Given the description of an element on the screen output the (x, y) to click on. 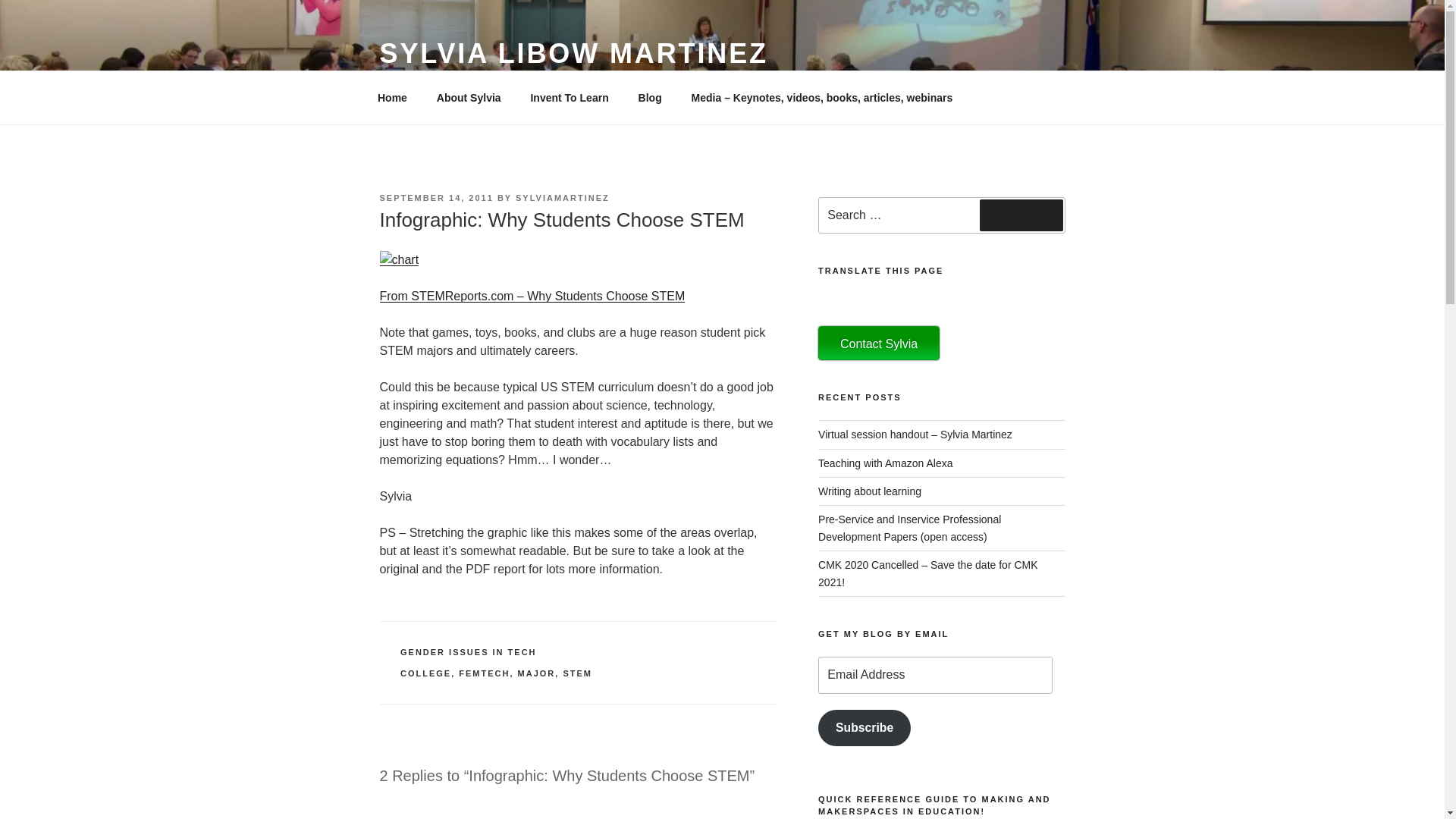
FEMTECH (483, 673)
Subscribe (864, 728)
Blog (649, 97)
Contact Sylvia (878, 342)
Home (392, 97)
Teaching with Amazon Alexa (885, 463)
About Sylvia (468, 97)
MAJOR (537, 673)
SEPTEMBER 14, 2011 (435, 197)
GENDER ISSUES IN TECH (468, 651)
Writing about learning (869, 491)
SYLVIA LIBOW MARTINEZ (572, 52)
Link offsite (531, 295)
Invent To Learn (568, 97)
Search (1020, 214)
